Given the description of an element on the screen output the (x, y) to click on. 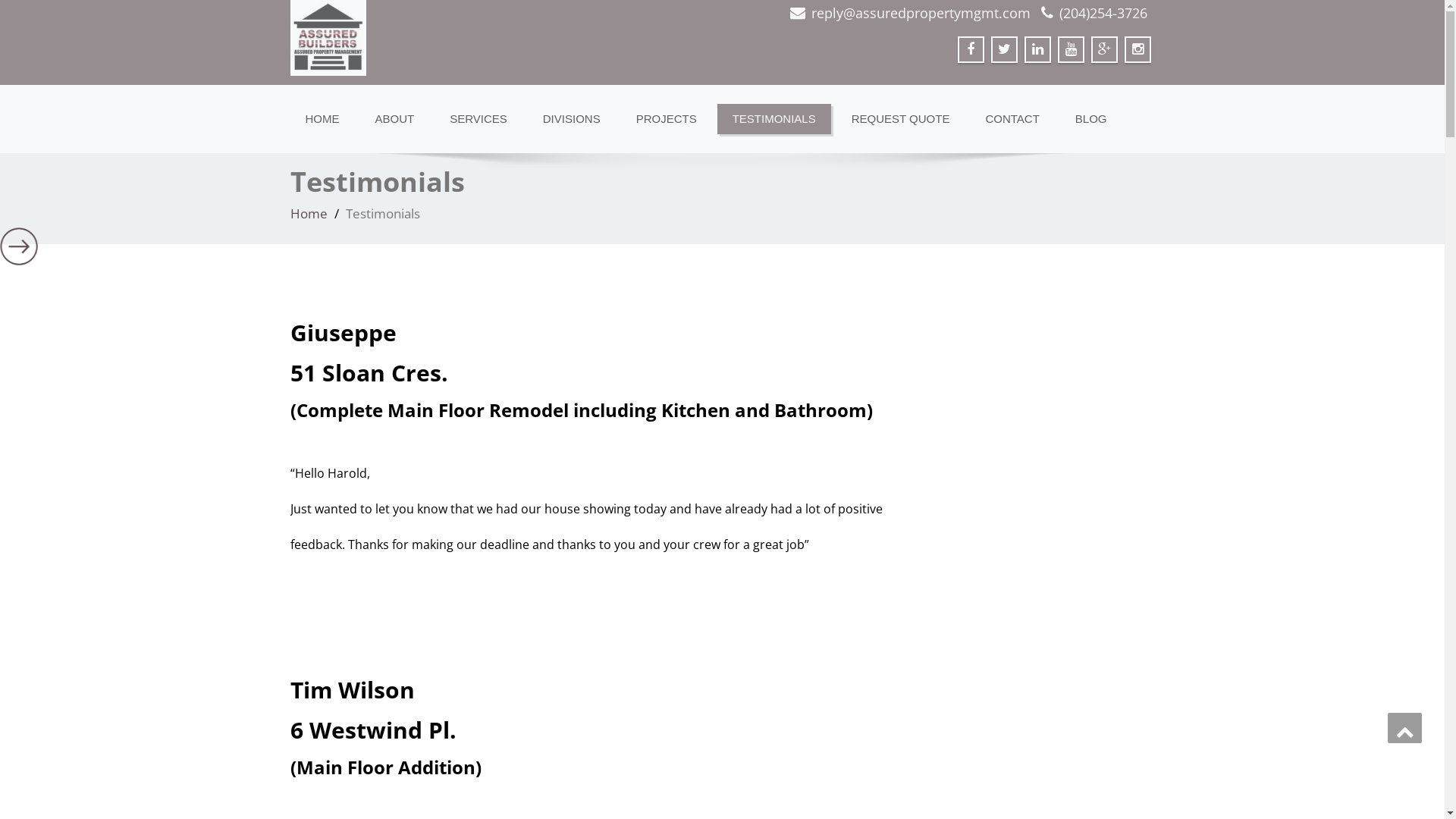
BLOG Element type: text (1091, 118)
DIVISIONS Element type: text (571, 118)
Go Top Element type: hover (1404, 727)
SERVICES Element type: text (478, 118)
REQUEST QUOTE Element type: text (900, 118)
Home Element type: text (307, 213)
PROJECTS Element type: text (666, 118)
HOME Element type: text (321, 118)
ABOUT Element type: text (394, 118)
reply@assuredpropertymgmt.com Element type: text (920, 12)
(204)254-3726 Element type: text (1102, 12)
TESTIMONIALS Element type: text (774, 118)
CONTACT Element type: text (1011, 118)
